Given the description of an element on the screen output the (x, y) to click on. 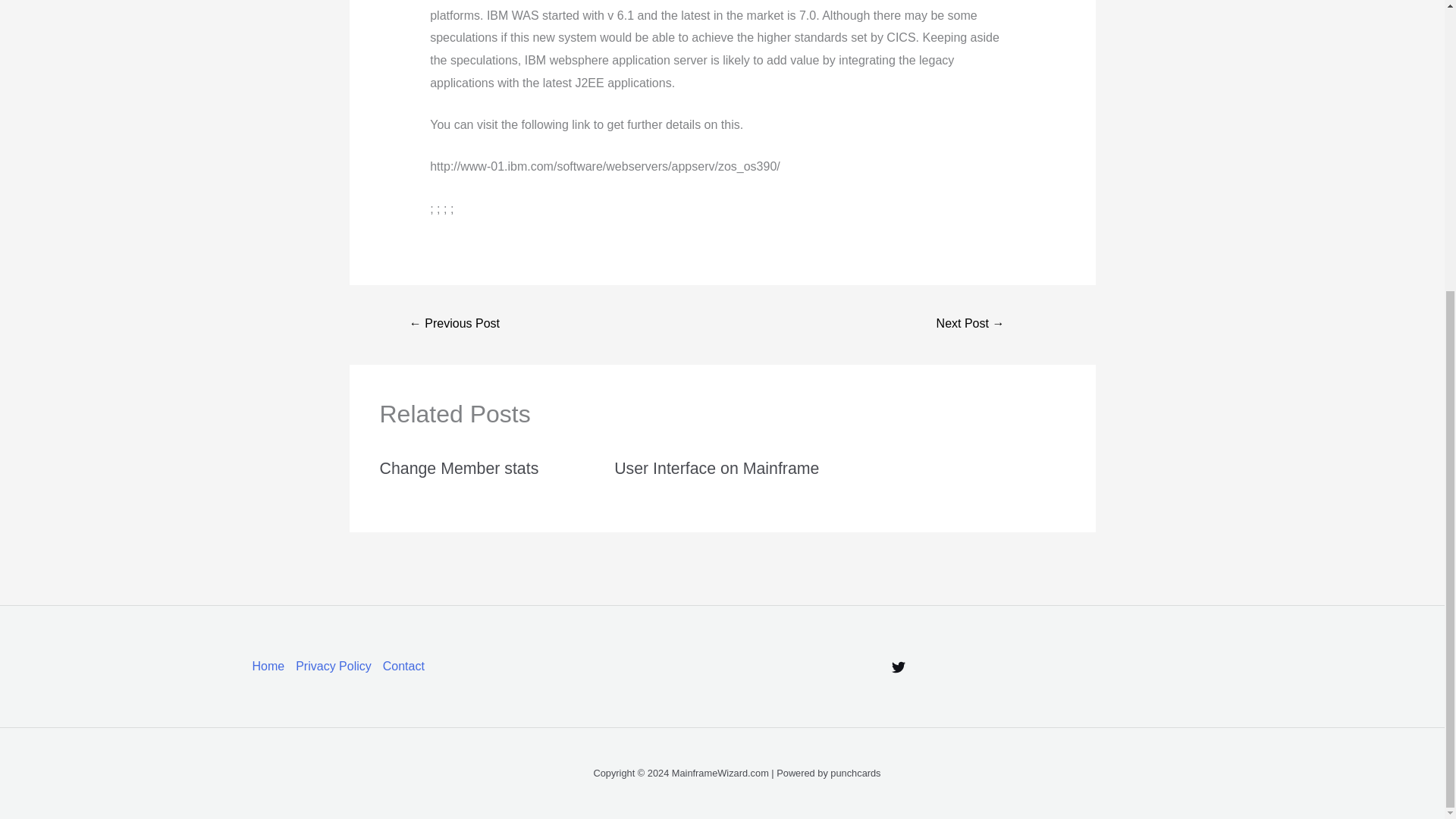
User Interface on Mainframe (716, 468)
Change Member stats (458, 468)
COBOL JUST RIGHT CLAUSE (454, 325)
